Given the description of an element on the screen output the (x, y) to click on. 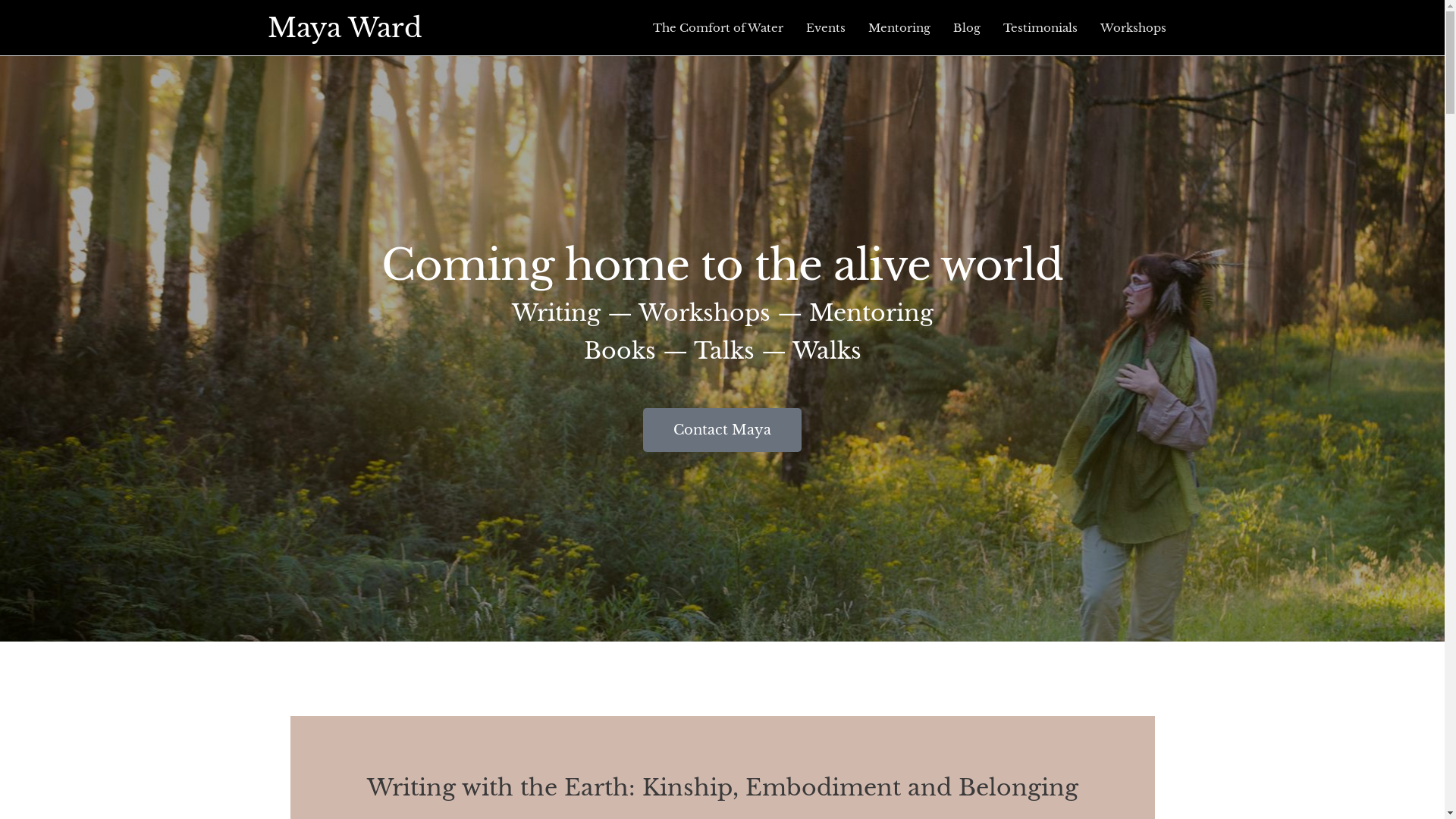
Mentoring Element type: text (898, 27)
Blog Element type: text (966, 27)
Contact Maya Element type: text (722, 429)
Events Element type: text (825, 27)
The Comfort of Water Element type: text (717, 27)
Maya Ward Element type: text (343, 27)
Workshops Element type: text (1132, 27)
Testimonials Element type: text (1039, 27)
